Given the description of an element on the screen output the (x, y) to click on. 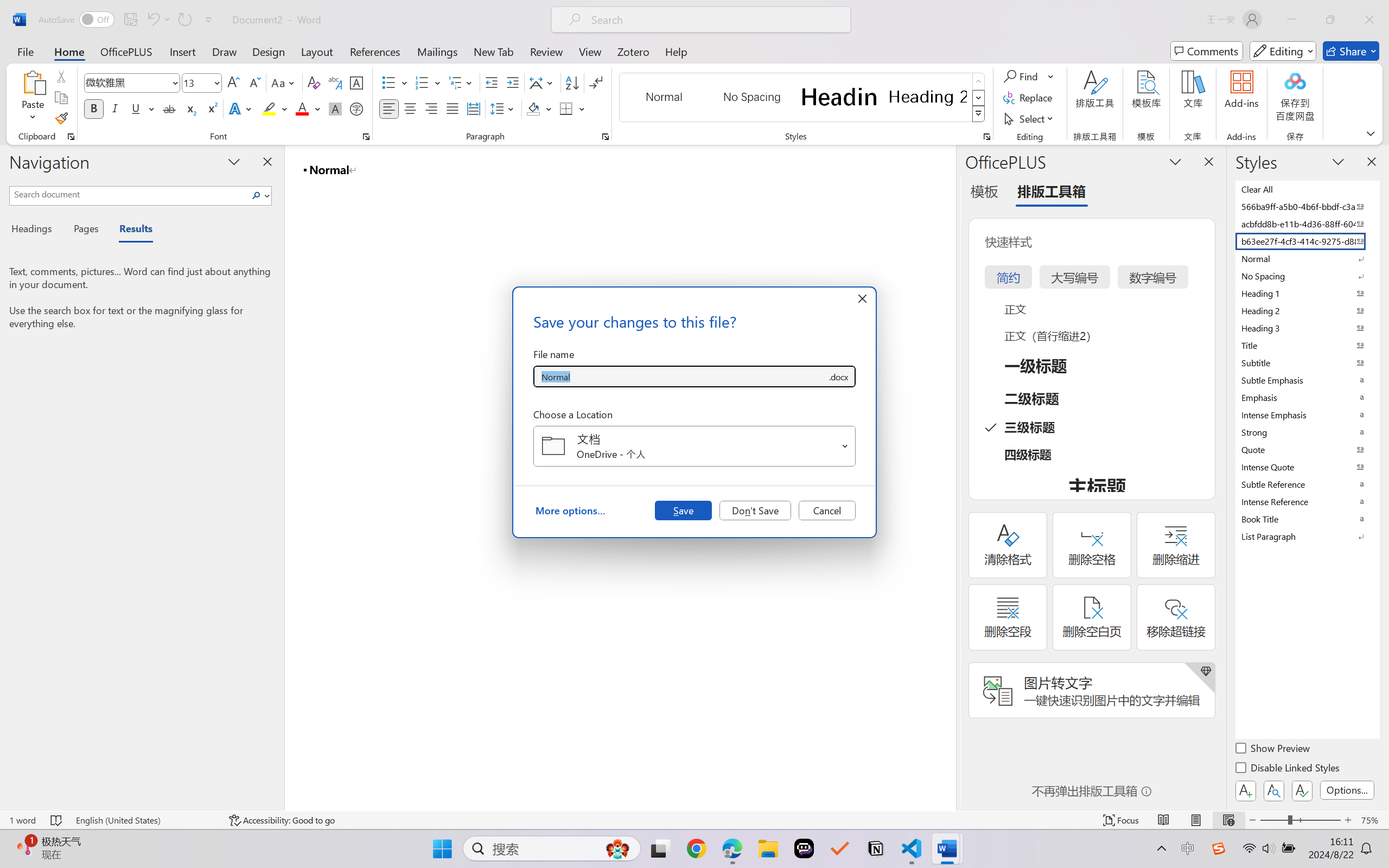
Row up (978, 81)
Quote (1306, 449)
Bold (94, 108)
OfficePLUS (126, 51)
Comments (1206, 50)
Emphasis (1306, 397)
Show Preview (1273, 749)
Subtle Emphasis (1306, 379)
File name (680, 376)
